Given the description of an element on the screen output the (x, y) to click on. 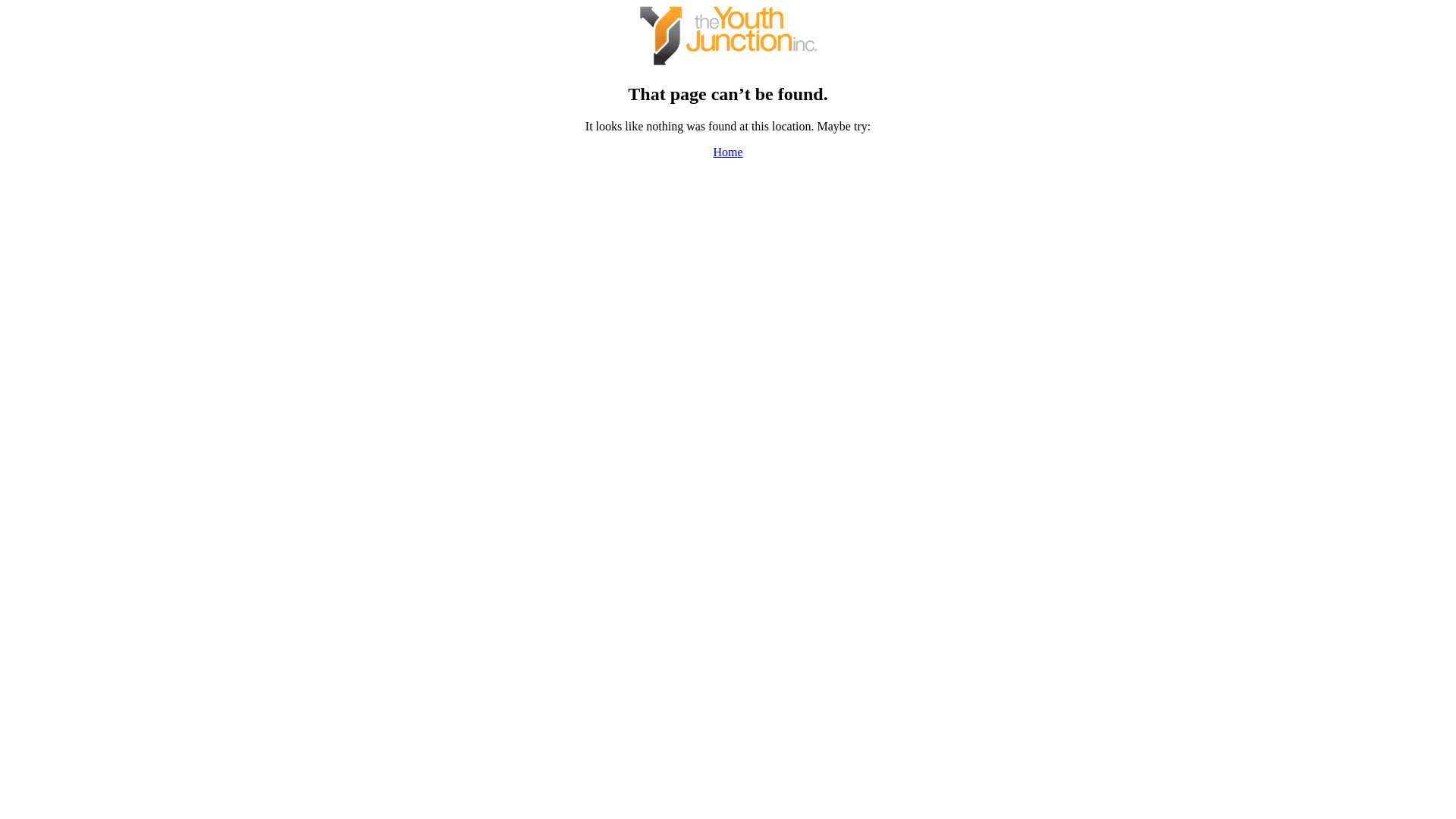
Home Element type: text (727, 151)
